Given the description of an element on the screen output the (x, y) to click on. 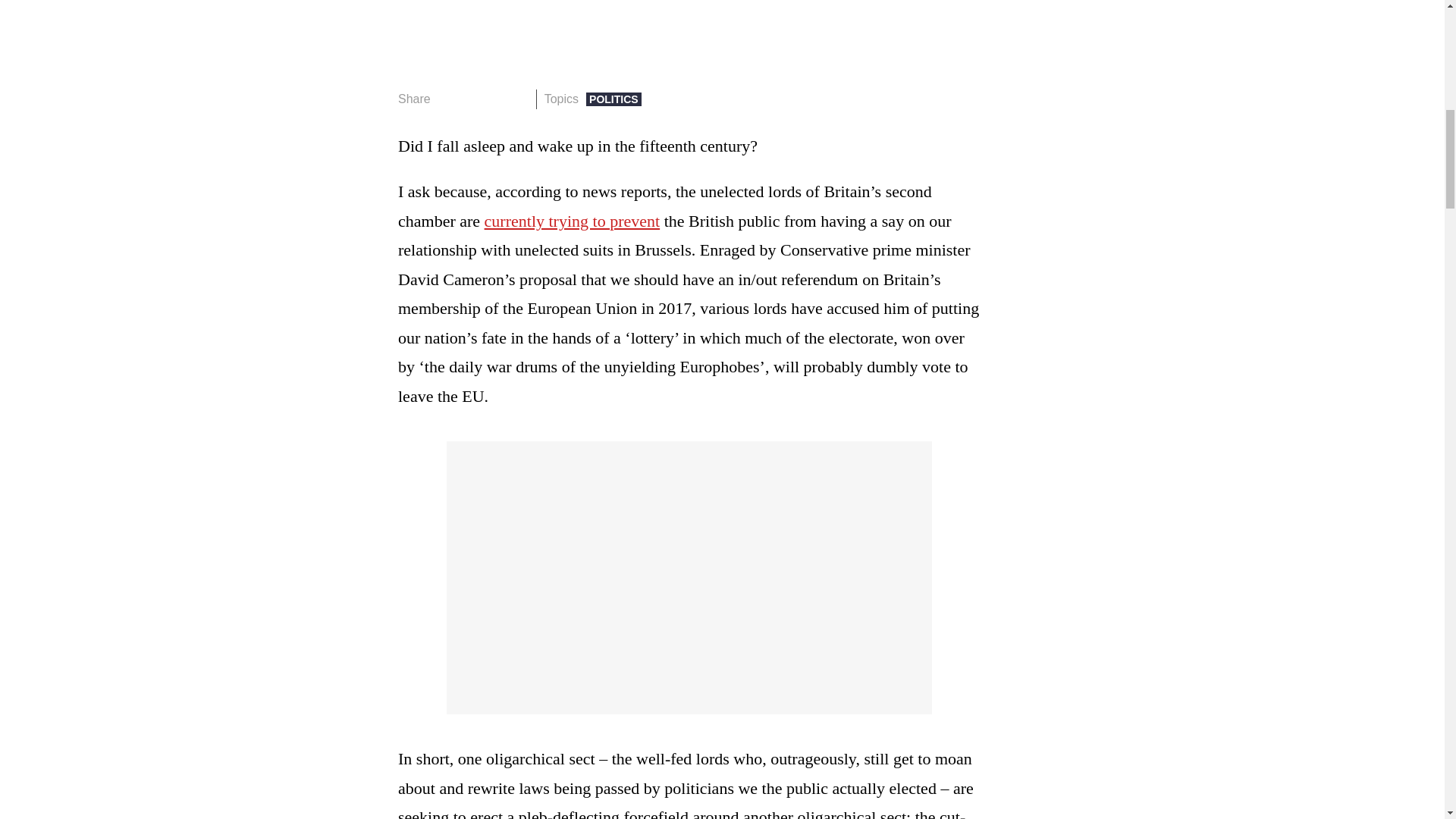
Share on Facebook (448, 98)
Share on Whatsapp (494, 98)
Share on Email (518, 98)
Share on Twitter (471, 98)
